Given the description of an element on the screen output the (x, y) to click on. 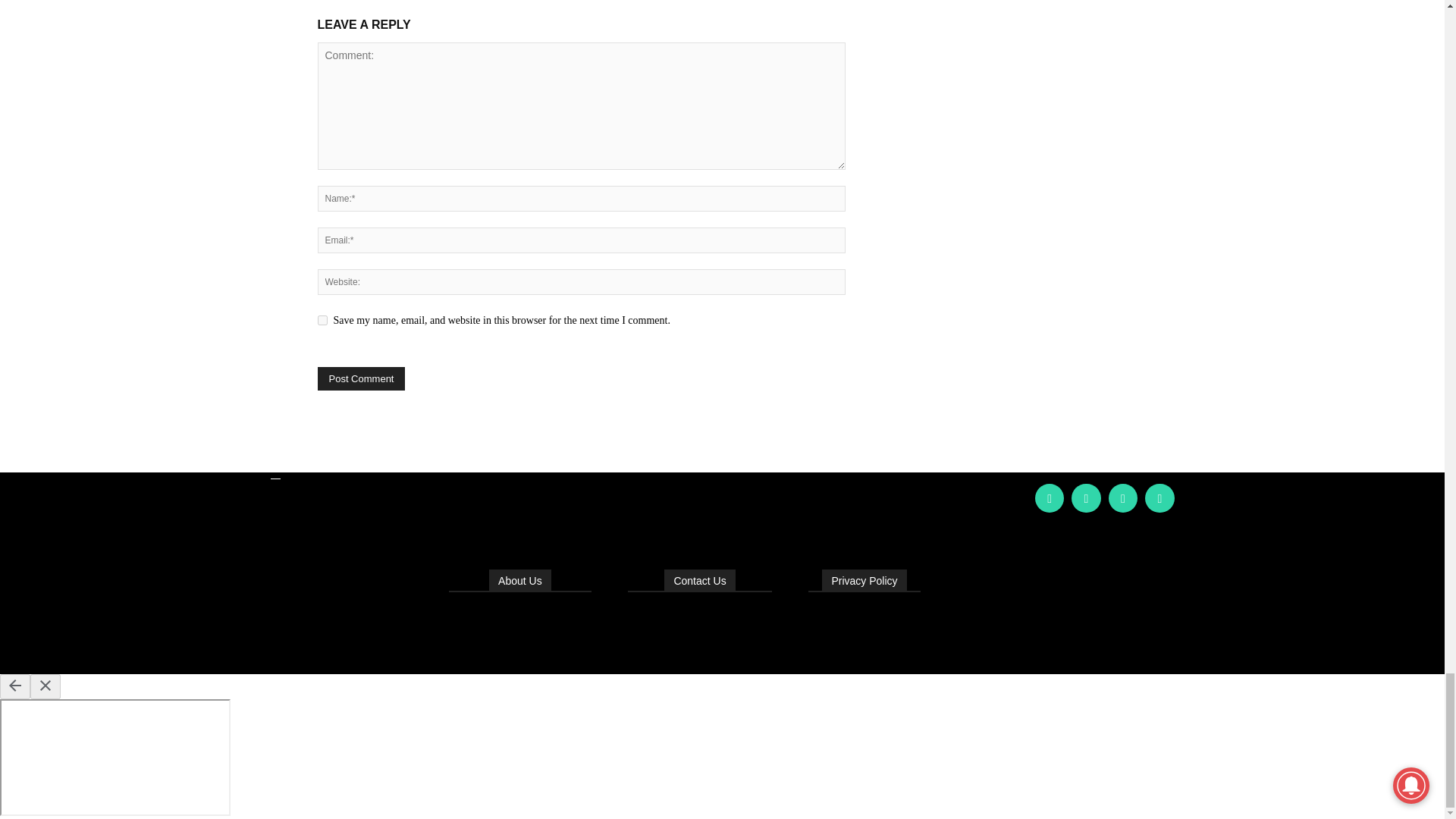
Post Comment (360, 378)
yes (321, 320)
